Given the description of an element on the screen output the (x, y) to click on. 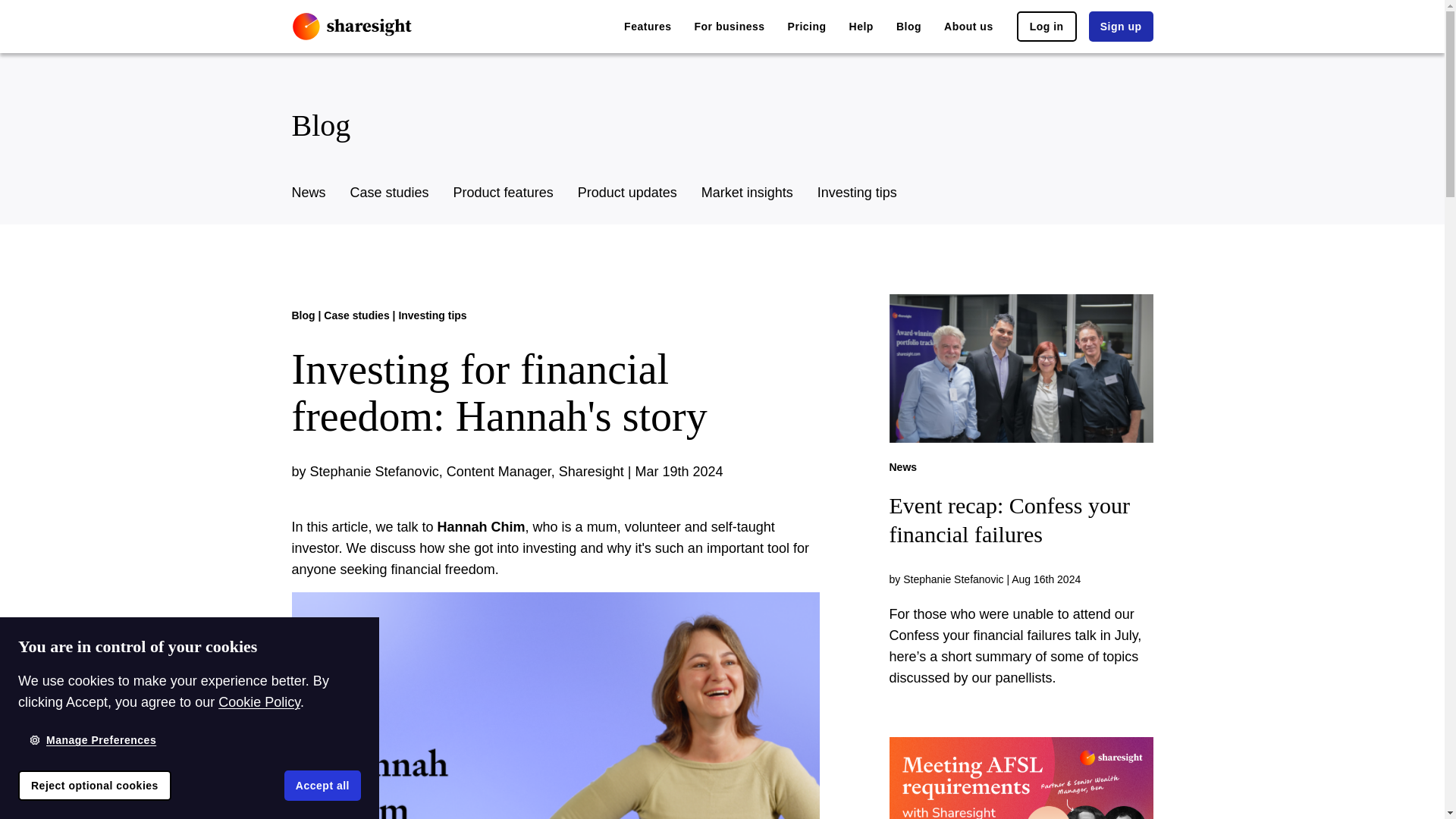
News (307, 192)
For business (729, 26)
About us (968, 26)
Blog (909, 26)
Market insights (747, 192)
Features (647, 26)
Investing tips (856, 192)
Read the Sharesight blog (909, 26)
Sign up to Sharesight for free (1121, 26)
Log in (1046, 26)
